Given the description of an element on the screen output the (x, y) to click on. 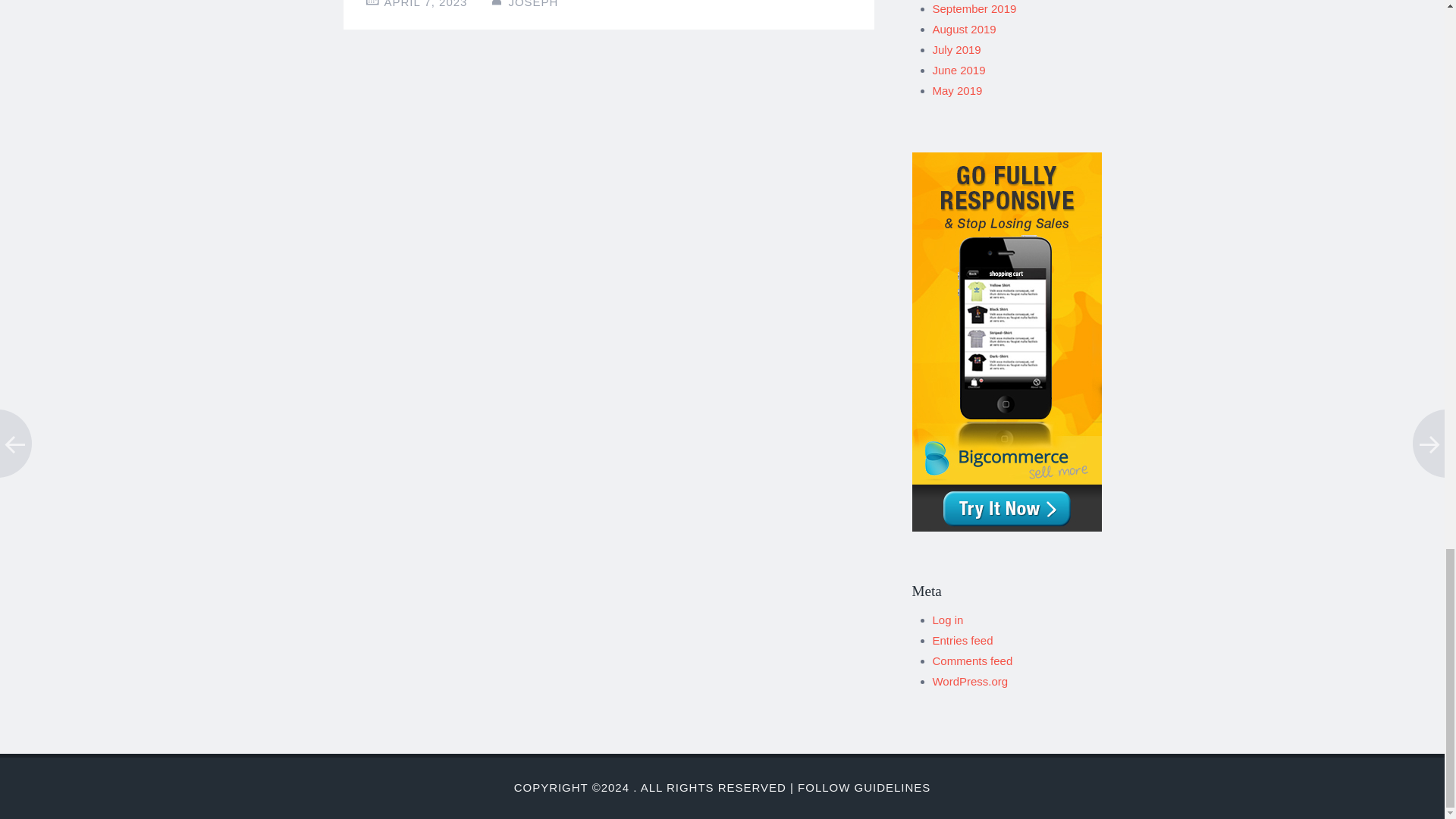
View all posts by Joseph (532, 4)
JOSEPH (532, 4)
9:55 am (425, 4)
APRIL 7, 2023 (425, 4)
